Given the description of an element on the screen output the (x, y) to click on. 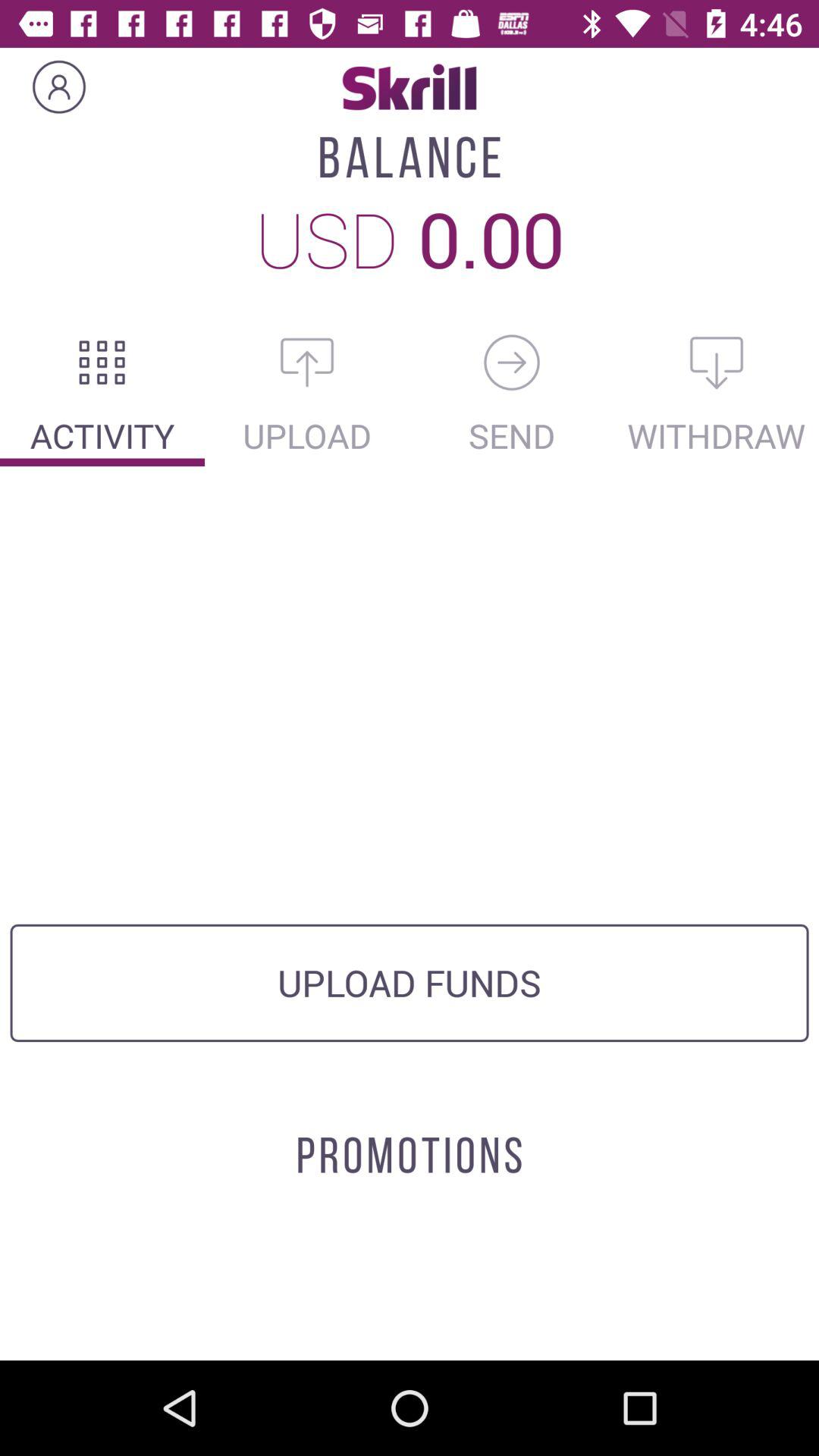
upload funds (306, 362)
